Given the description of an element on the screen output the (x, y) to click on. 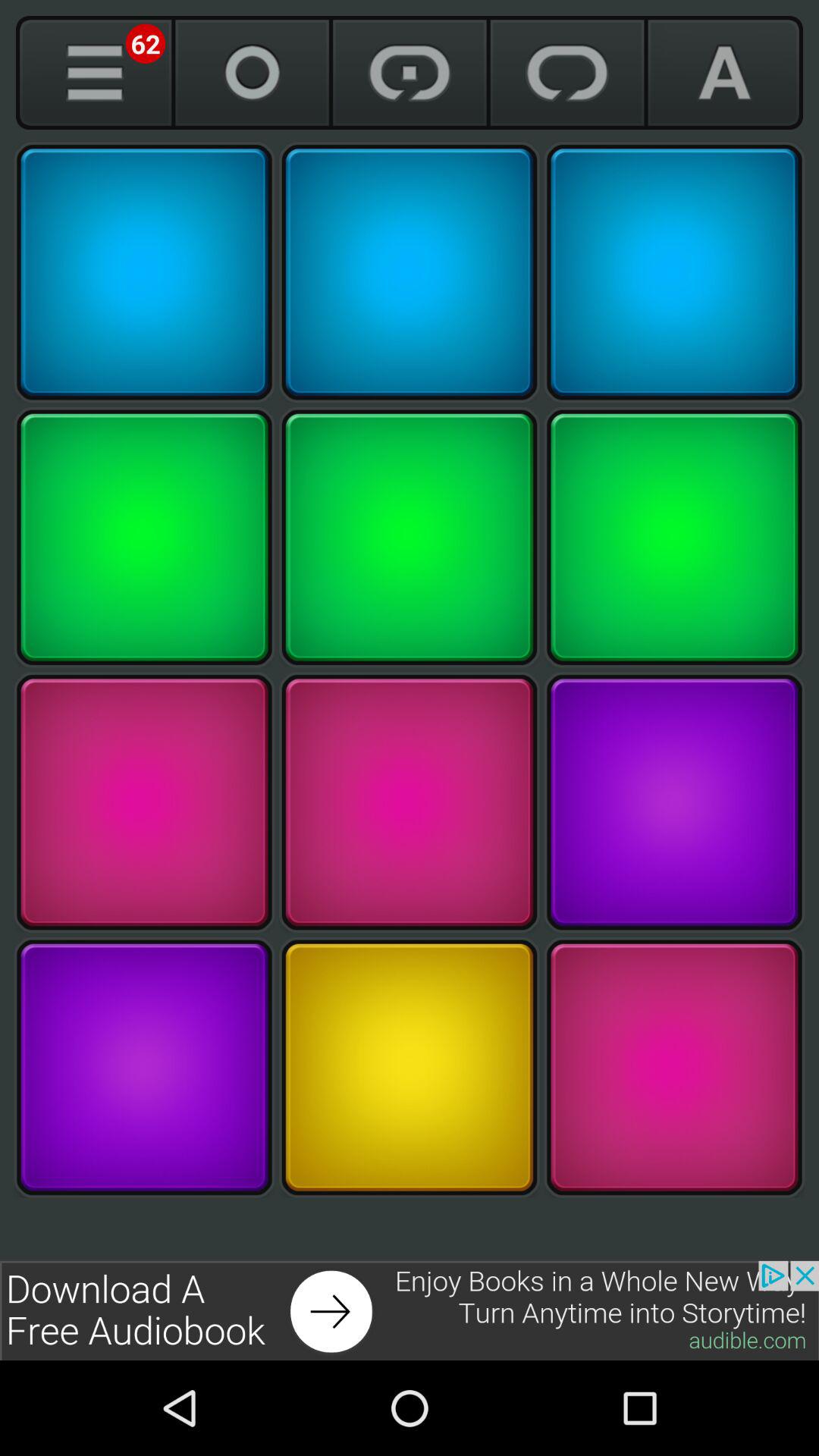
toggle drum sound (409, 537)
